Given the description of an element on the screen output the (x, y) to click on. 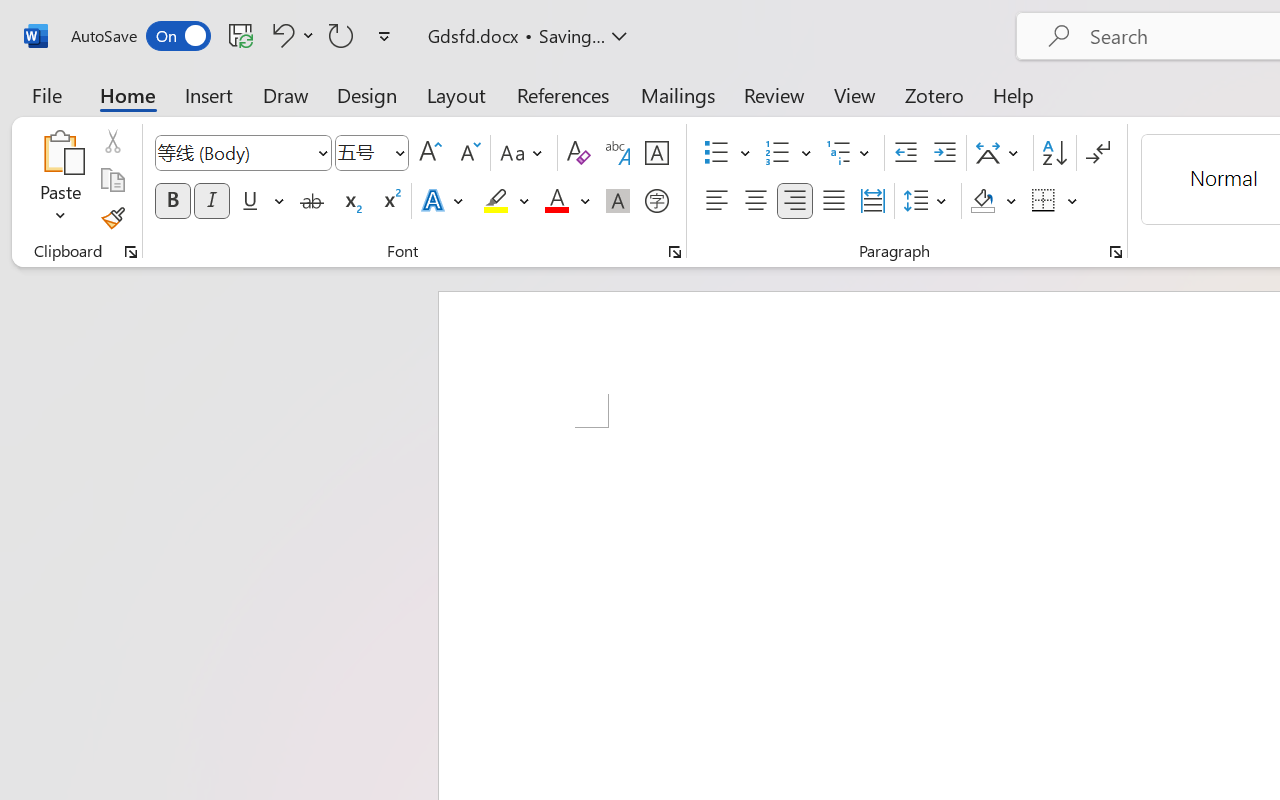
Font Color (567, 201)
Align Right (794, 201)
Clear Formatting (578, 153)
Increase Indent (944, 153)
Shrink Font (468, 153)
Font... (675, 252)
Text Highlight Color (506, 201)
